Given the description of an element on the screen output the (x, y) to click on. 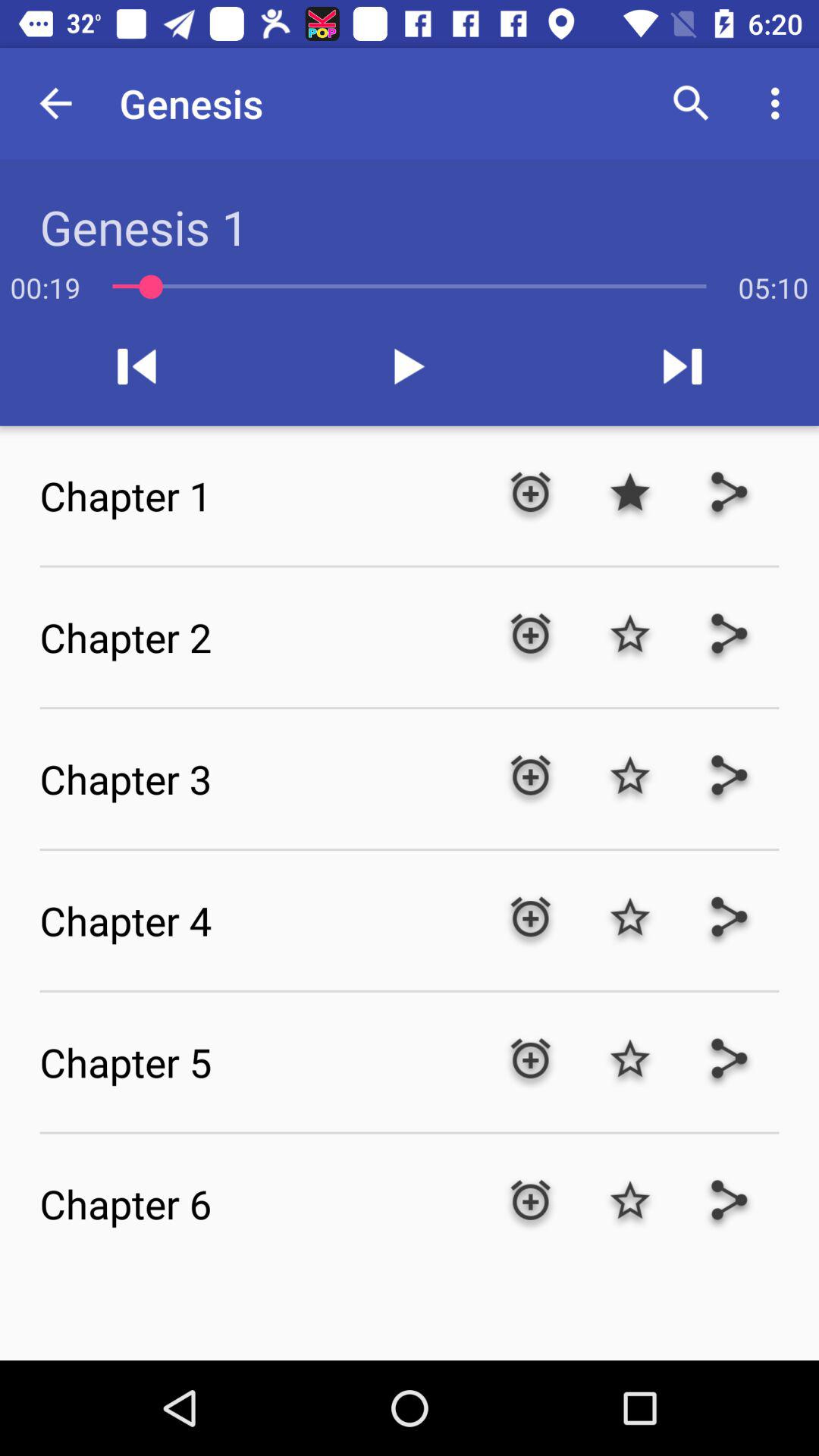
choose the chapter 3 item (259, 778)
